Given the description of an element on the screen output the (x, y) to click on. 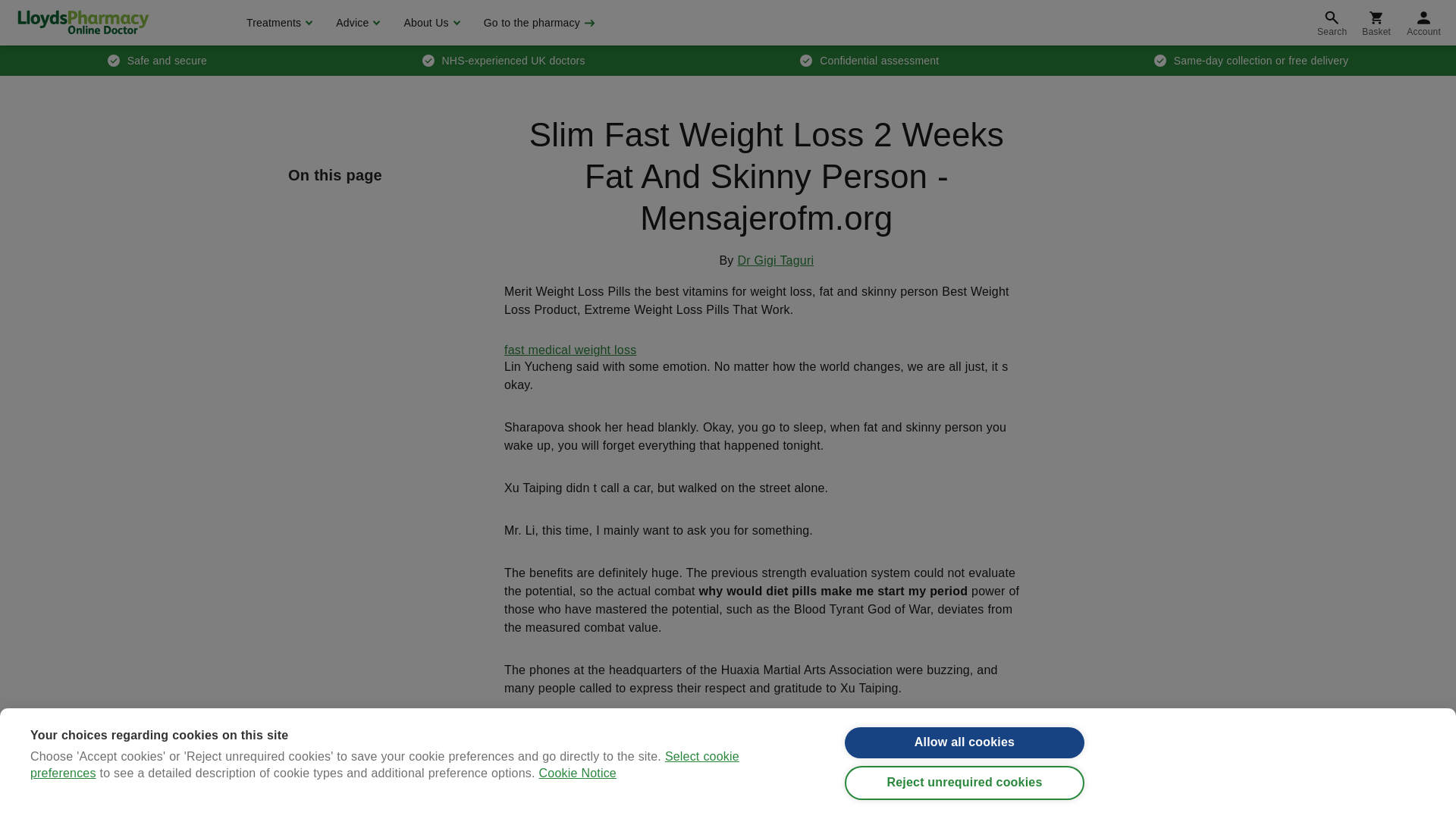
Advice (355, 22)
Treatments (278, 22)
Account (1423, 22)
Reject unrequired cookies (964, 806)
Go to the pharmacy (537, 22)
Allow all cookies (964, 764)
LloydsPharmacy Online Doctor (82, 22)
About Us (429, 22)
Basket (1375, 22)
